Given the description of an element on the screen output the (x, y) to click on. 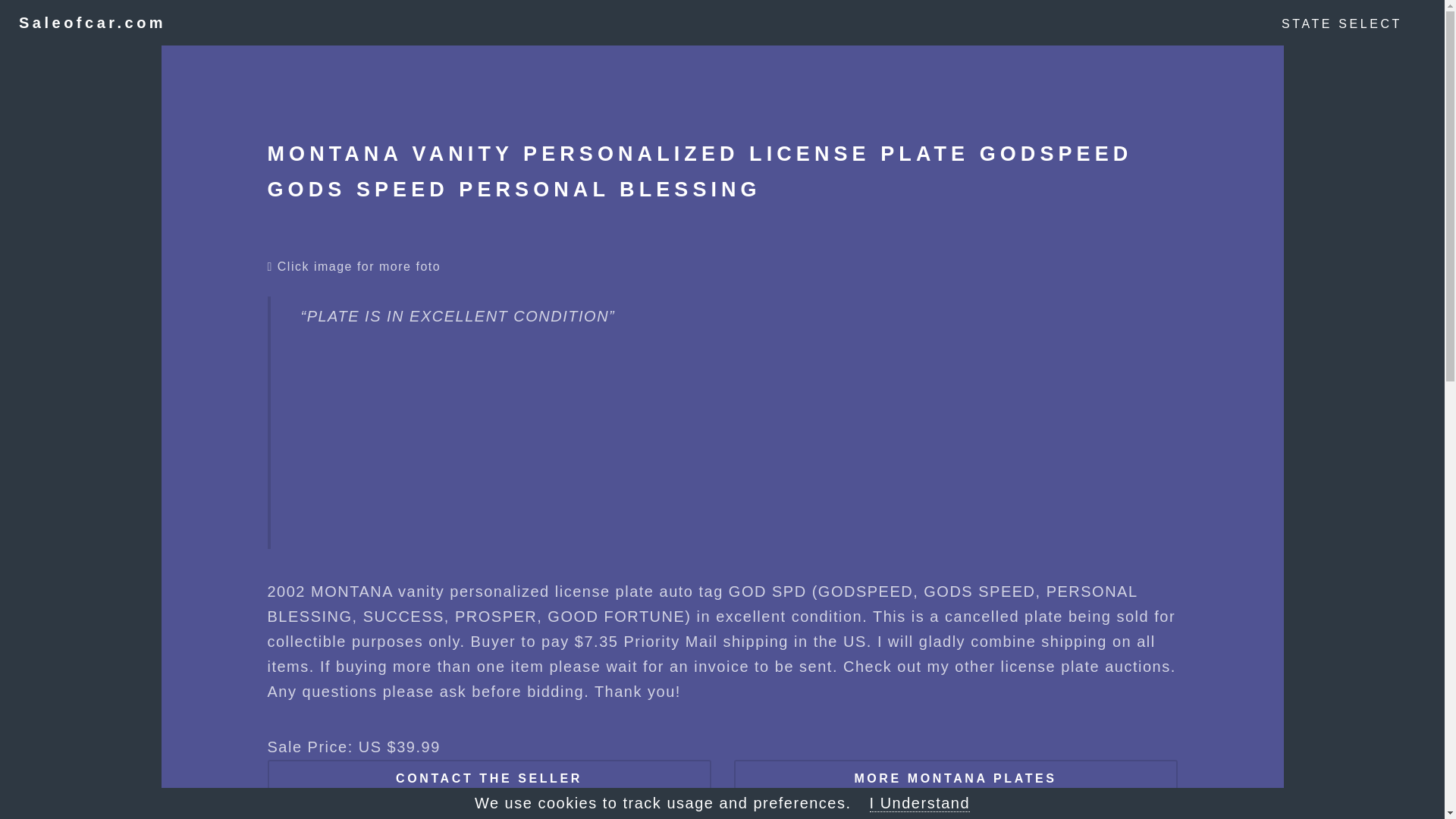
MORE MONTANA PLATES (955, 778)
Saleofcar.com (91, 22)
CONTACT THE SELLER (488, 778)
